Given the description of an element on the screen output the (x, y) to click on. 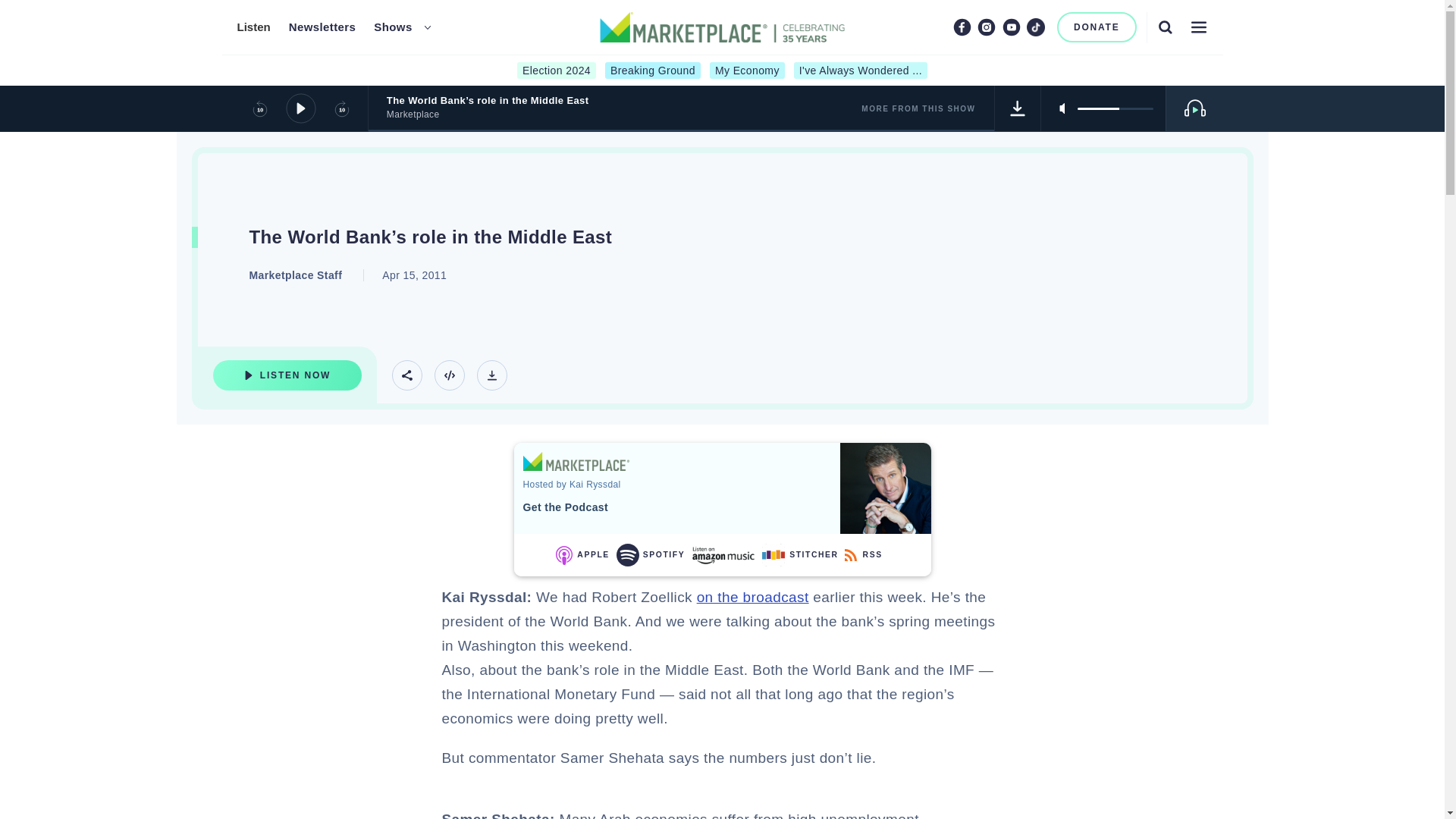
Marketplace (575, 461)
5 (1115, 108)
Download Track (491, 374)
DONATE (1097, 27)
Shows (393, 26)
Newsletters (322, 27)
volume (1115, 108)
Download Track (1017, 108)
Search (1164, 27)
Listen Now (286, 374)
